Given the description of an element on the screen output the (x, y) to click on. 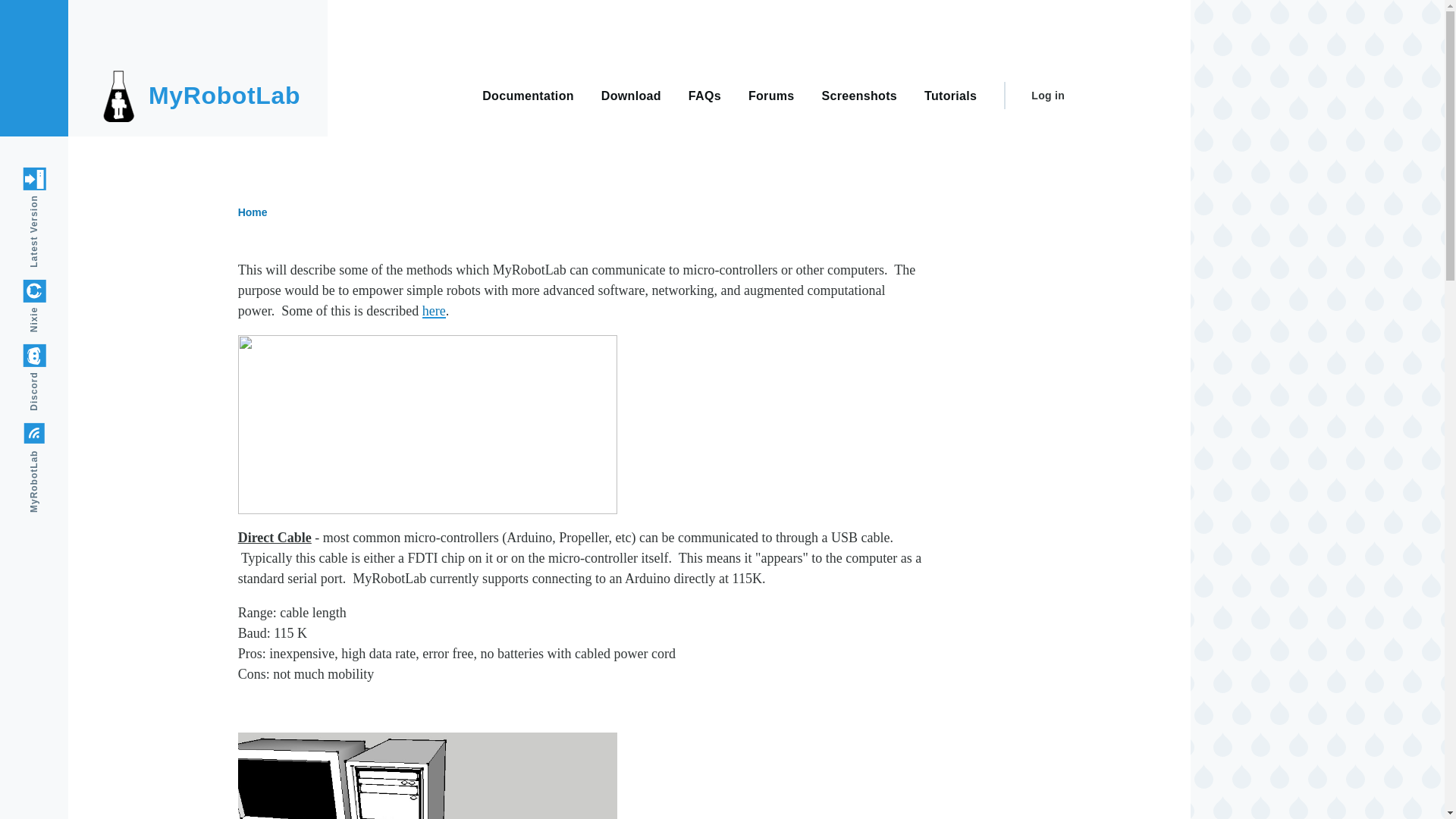
Nixie (49, 291)
Home (252, 212)
MyRobotLab (223, 94)
Skip to main content (595, 6)
Log in (1047, 94)
Documentation (527, 94)
here (433, 310)
Screenshots (860, 94)
MyRobotLab (68, 433)
Home (223, 94)
Latest Version (72, 178)
Discord (55, 354)
